Given the description of an element on the screen output the (x, y) to click on. 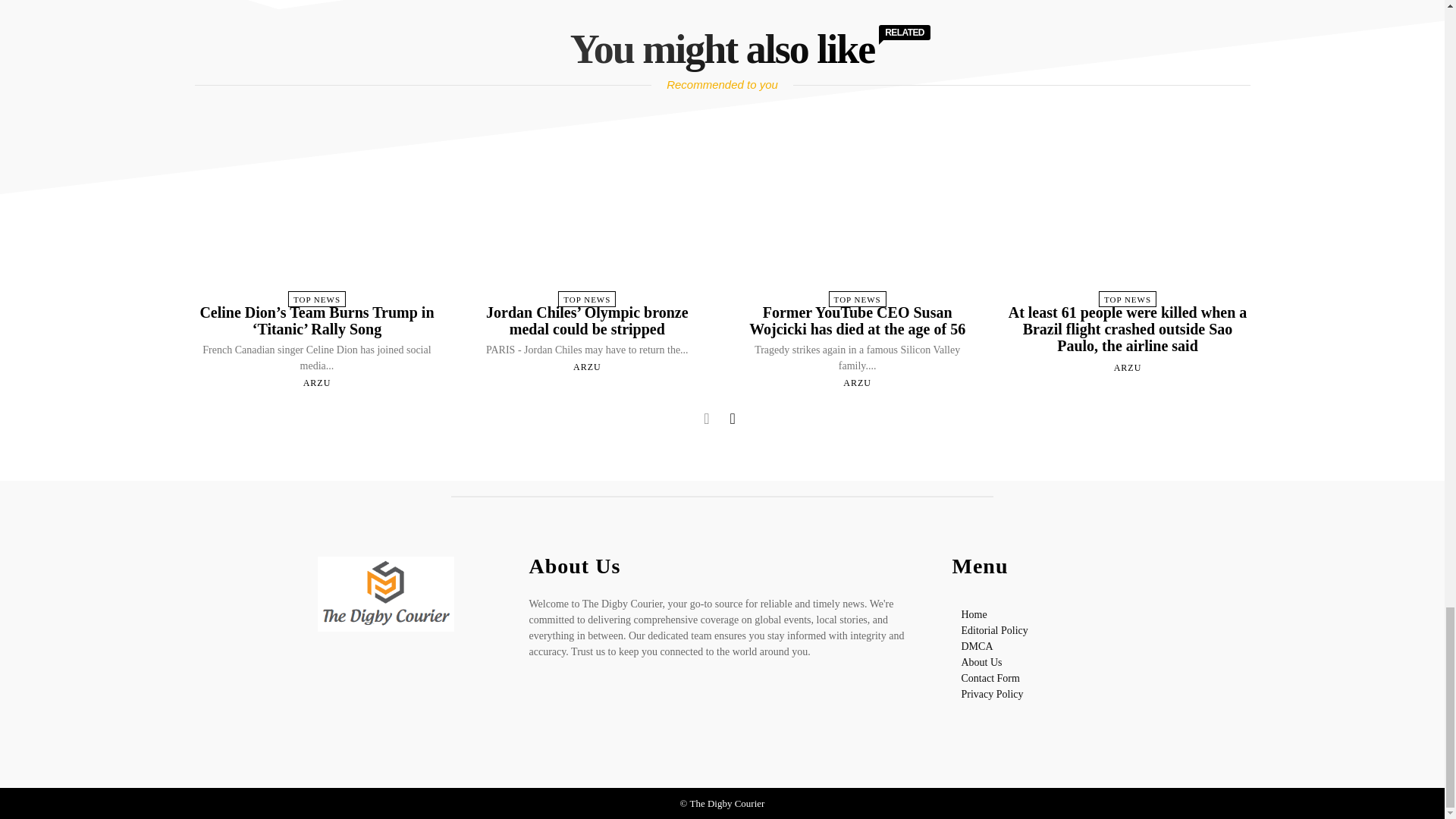
Former YouTube CEO Susan Wojcicki has died at the age of 56 (857, 213)
ARZU (316, 382)
TOP NEWS (317, 299)
TOP NEWS (586, 299)
